Given the description of an element on the screen output the (x, y) to click on. 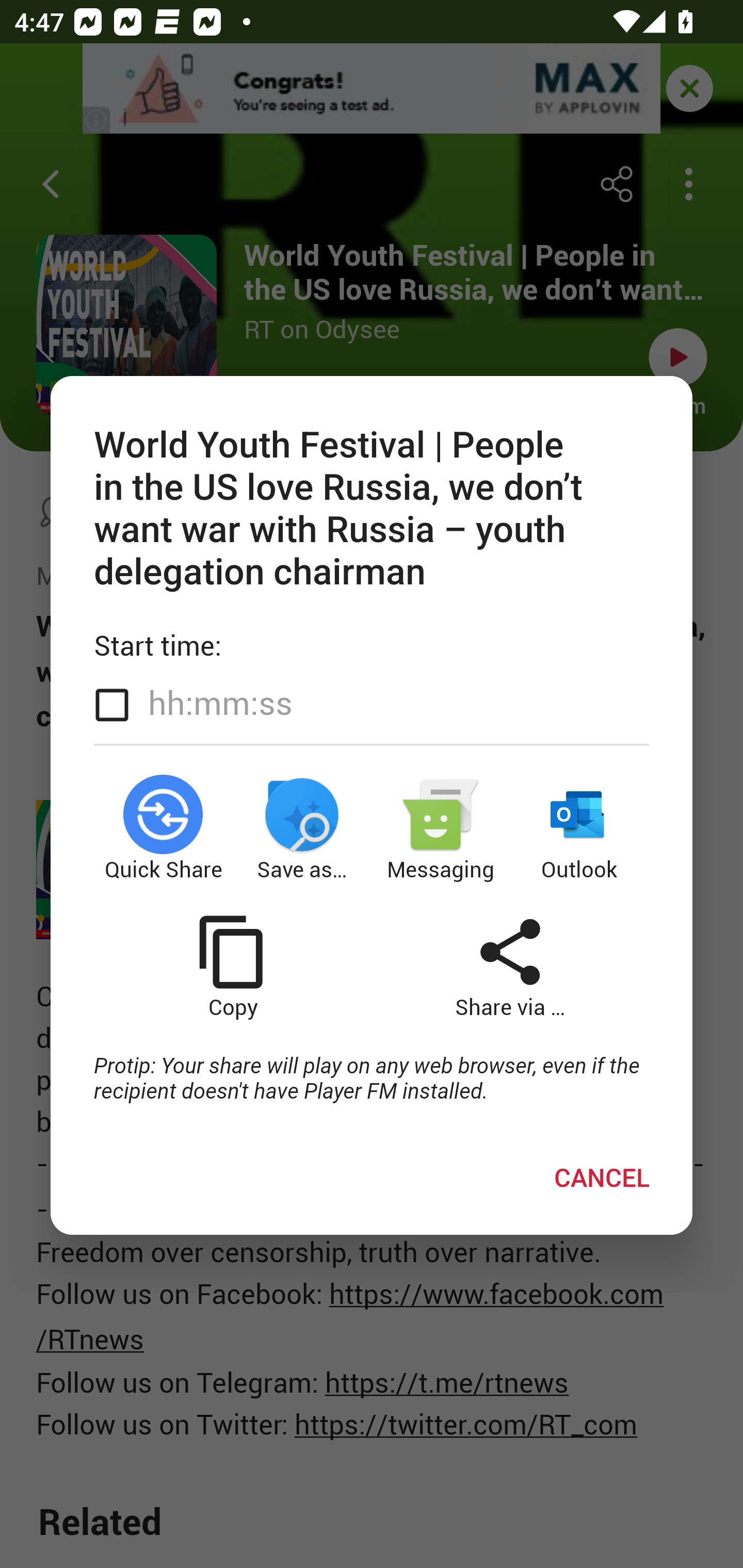
hh:mm:ss (220, 702)
Quick Share (163, 828)
Save as… (301, 828)
Messaging (440, 828)
Outlook (579, 828)
Copy (232, 966)
Share via … (509, 966)
CANCEL (600, 1176)
